Given the description of an element on the screen output the (x, y) to click on. 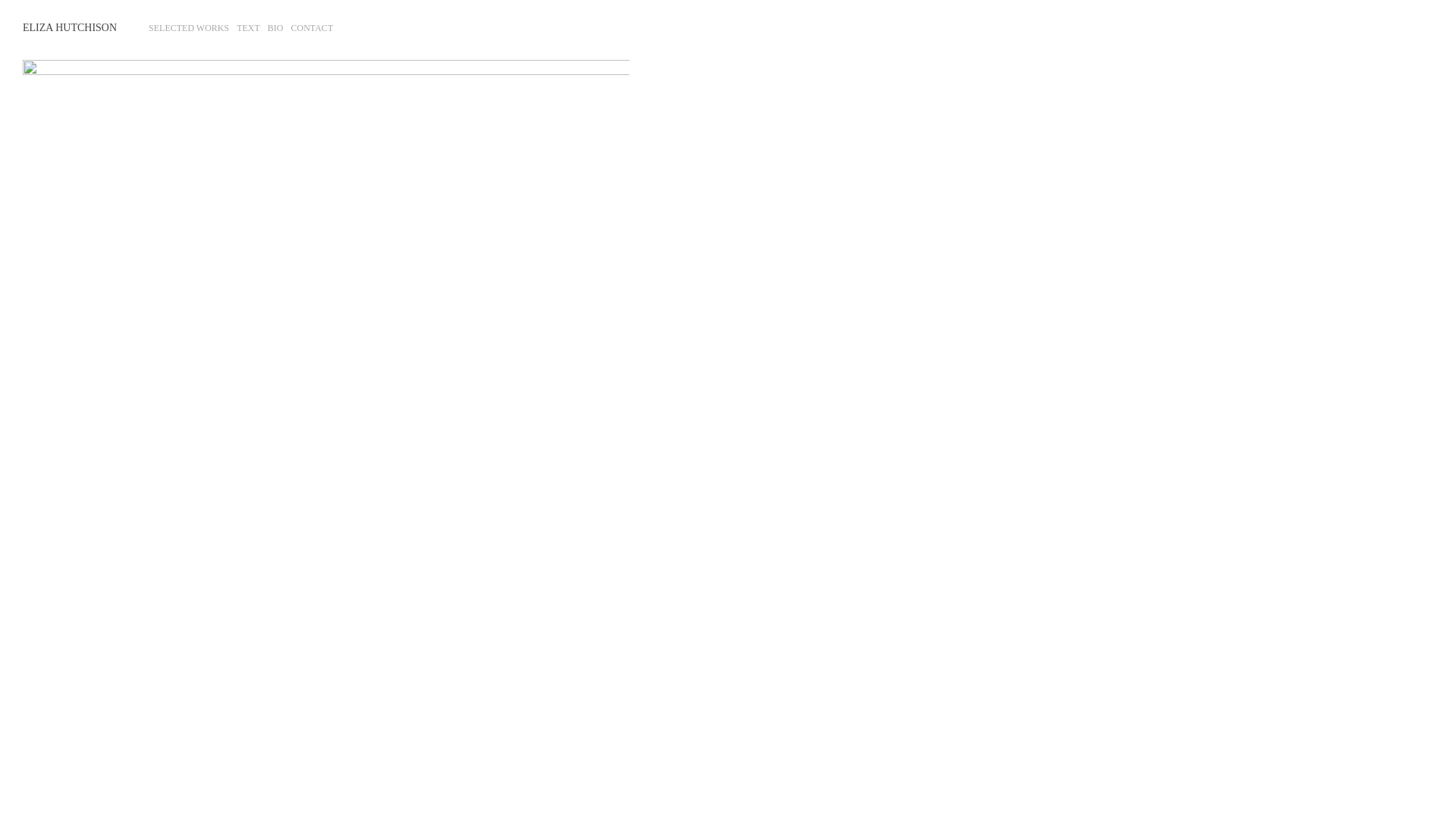
TEXT Element type: text (248, 27)
ELIZA HUTCHISON Element type: text (69, 27)
BIO Element type: text (275, 27)
SELECTED WORKS Element type: text (188, 27)
CONTACT Element type: text (312, 27)
